Given the description of an element on the screen output the (x, y) to click on. 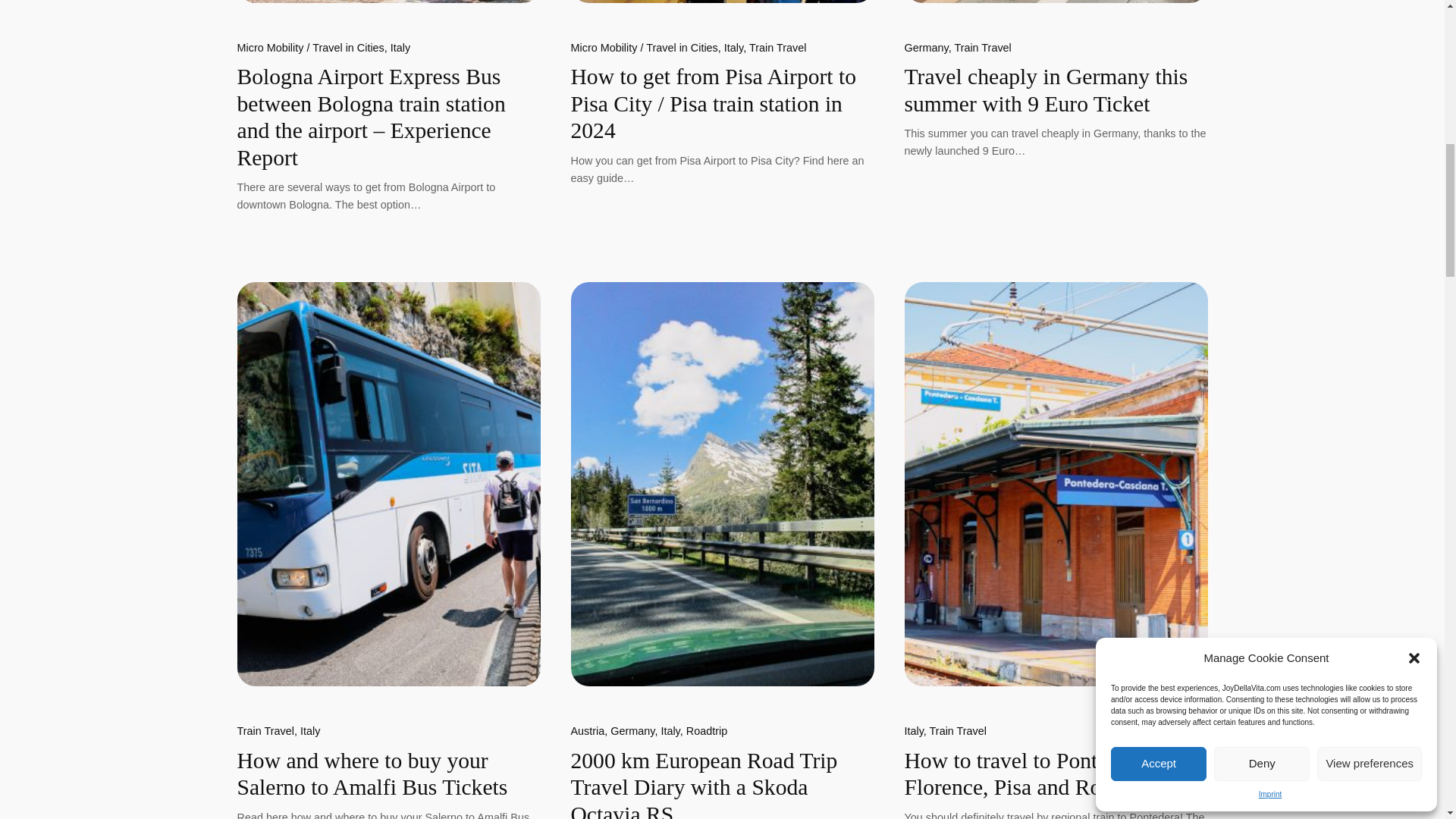
How and where to buy your Salerno to Amalfi Bus Tickets 5 (387, 483)
How to travel to Pontedera from Florence, Pisa and Rome 10 (1055, 483)
